Given the description of an element on the screen output the (x, y) to click on. 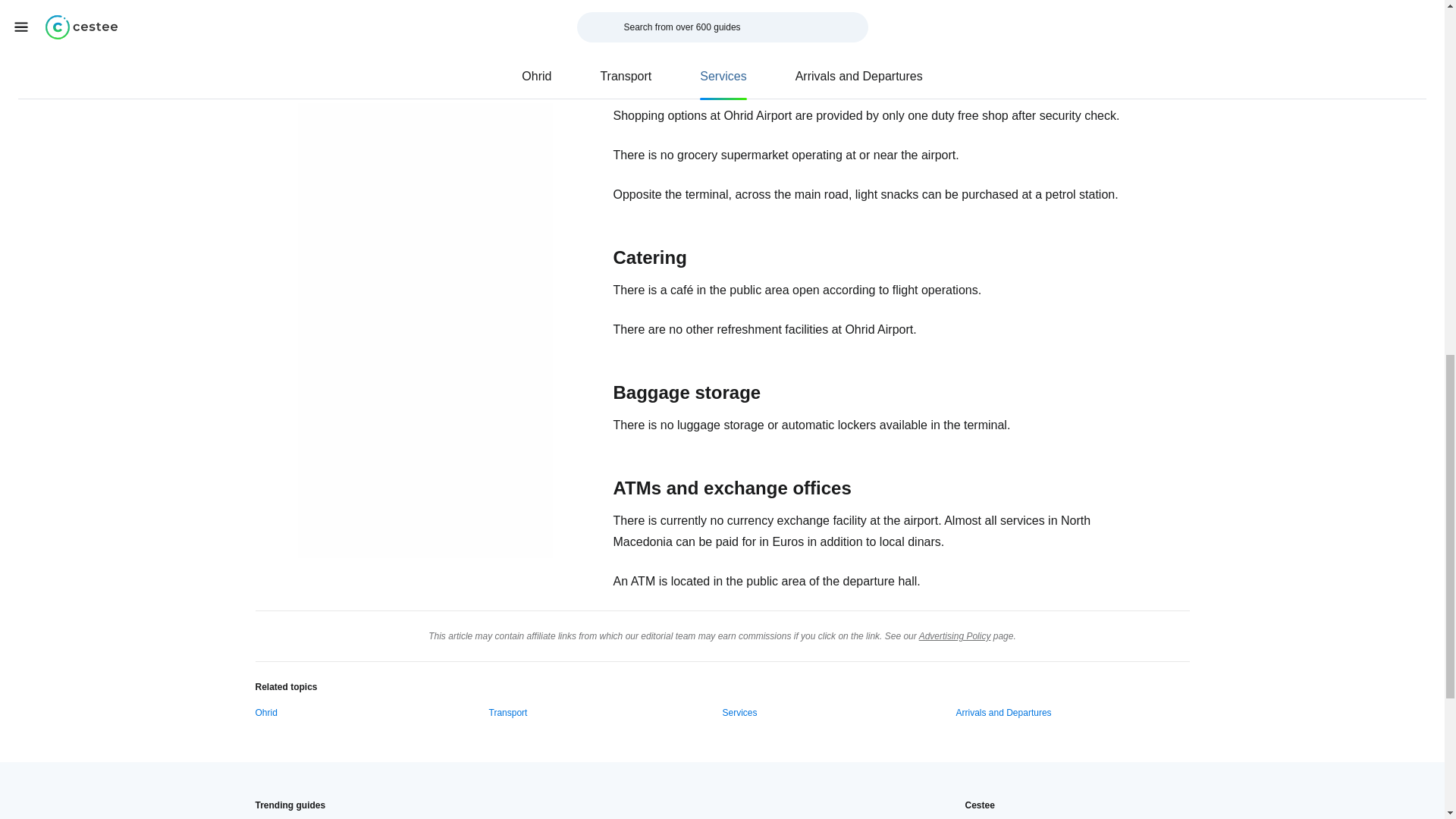
airalo.com (740, 19)
Transport (507, 712)
Vienna VIE (509, 818)
Advertising Policy (954, 635)
Services (739, 712)
Arrivals and Departures (1003, 712)
